Given the description of an element on the screen output the (x, y) to click on. 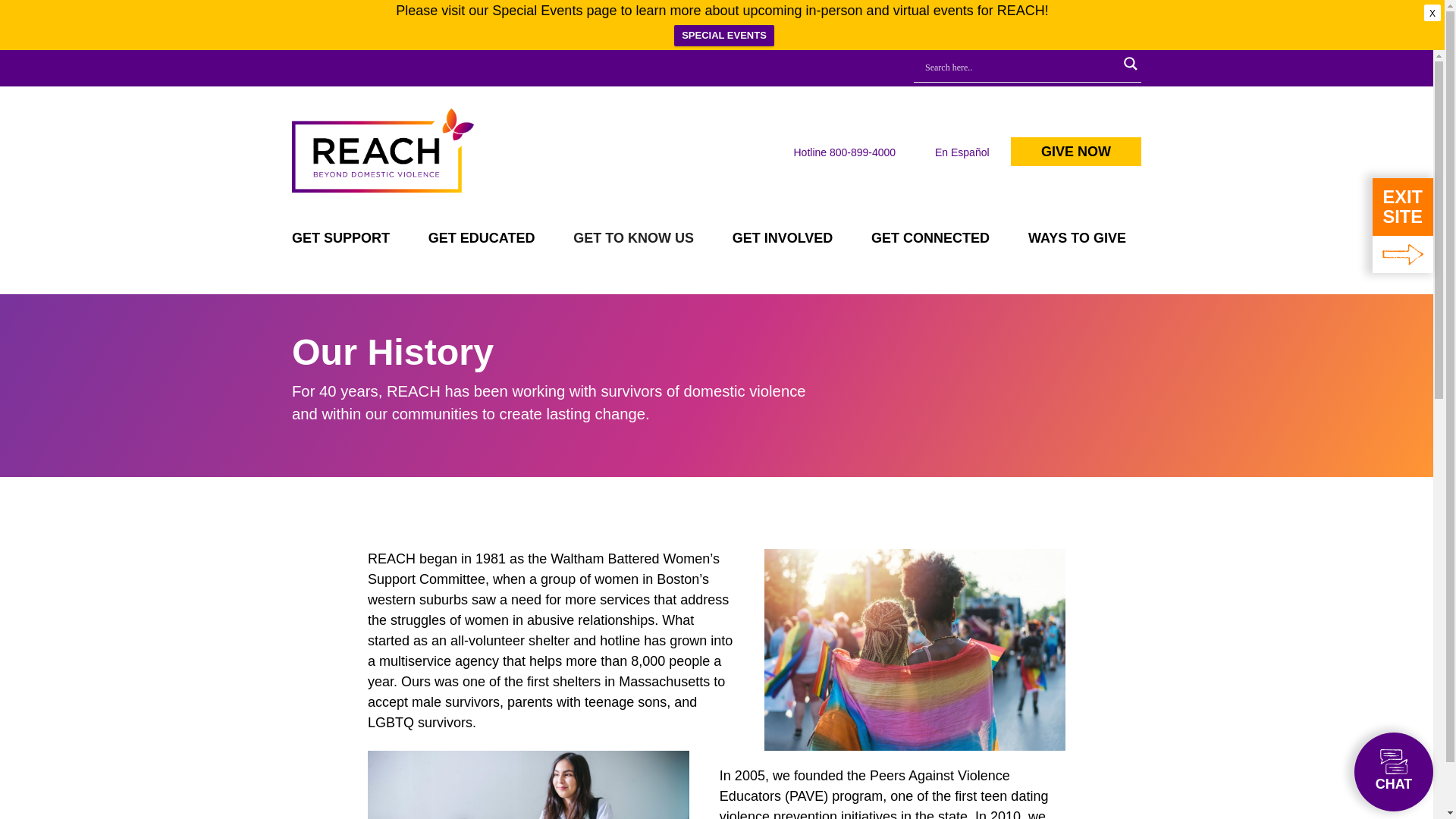
GET TO KNOW US (633, 241)
GIVE NOW (1075, 151)
WAYS TO GIVE (1077, 241)
GET EDUCATED (481, 241)
GET SUPPORT (348, 241)
Hotline 800-899-4000 (844, 152)
GET CONNECTED (930, 241)
GET INVOLVED (782, 241)
SPECIAL EVENTS (724, 35)
